Given the description of an element on the screen output the (x, y) to click on. 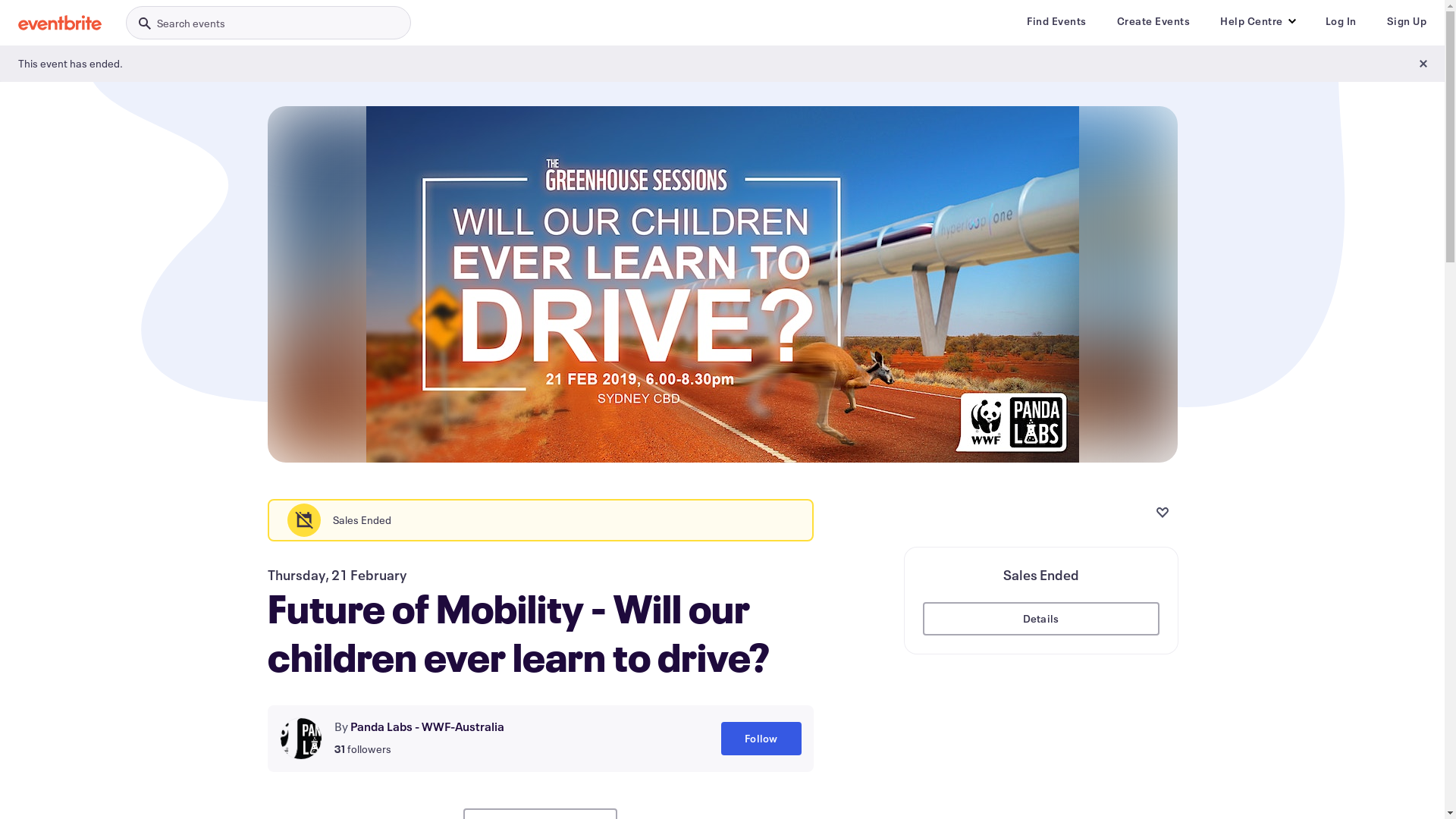
Find Events Element type: text (1056, 21)
Follow Element type: text (760, 738)
Search events Element type: text (268, 22)
Log In Element type: text (1340, 21)
Create Events Element type: text (1152, 21)
Details Element type: text (1040, 618)
Sign Up Element type: text (1406, 21)
Eventbrite Element type: hover (59, 22)
